Given the description of an element on the screen output the (x, y) to click on. 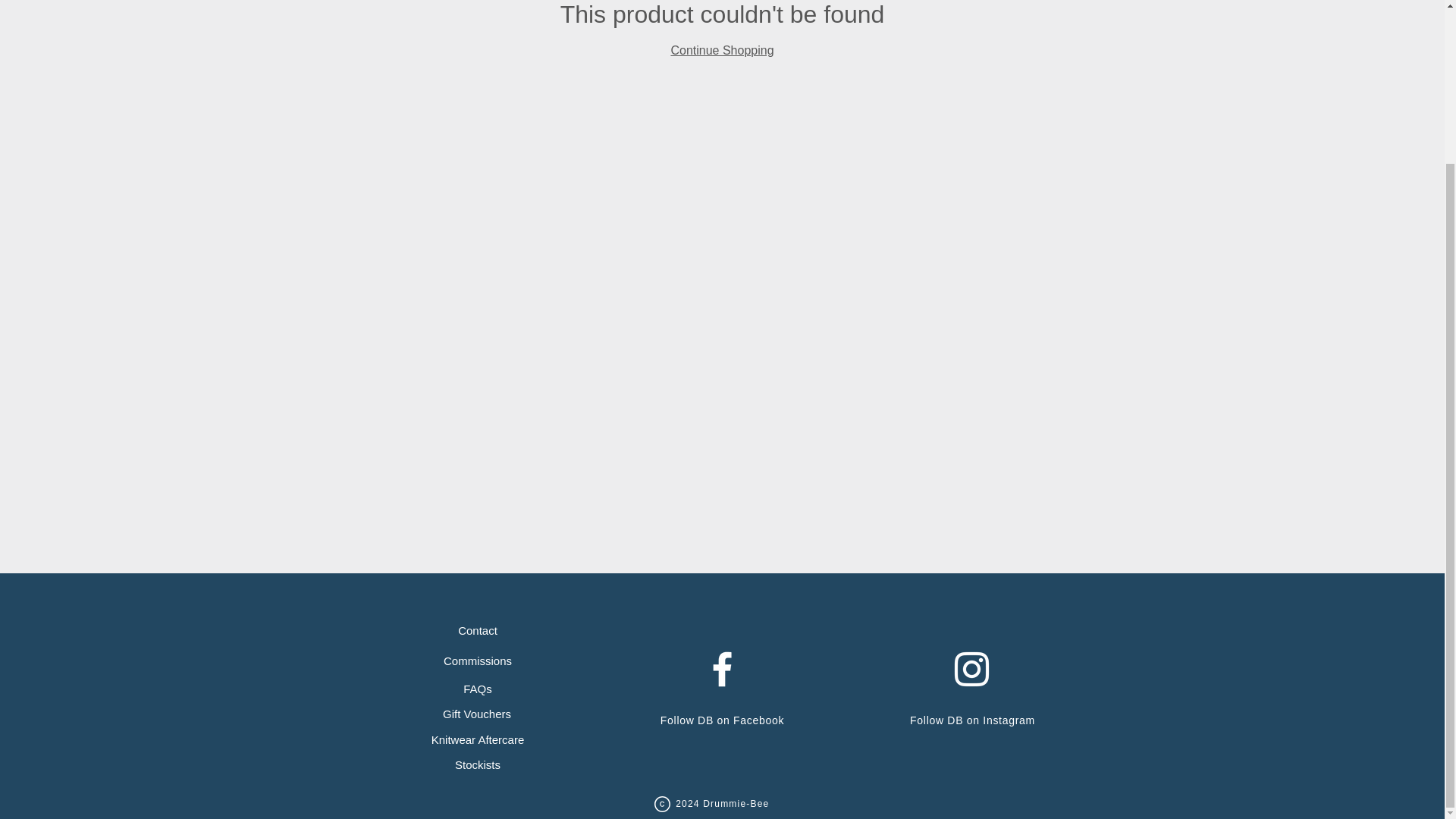
Follow DB on Facebook (722, 720)
Gift Vouchers (477, 714)
FAQs (477, 688)
     2024 Drummie-Bee (713, 803)
Continue Shopping (721, 50)
Commissions (477, 661)
Follow DB on Instagram (972, 720)
Stockists (477, 765)
Knitwear Aftercare (477, 739)
Contact (477, 630)
